Given the description of an element on the screen output the (x, y) to click on. 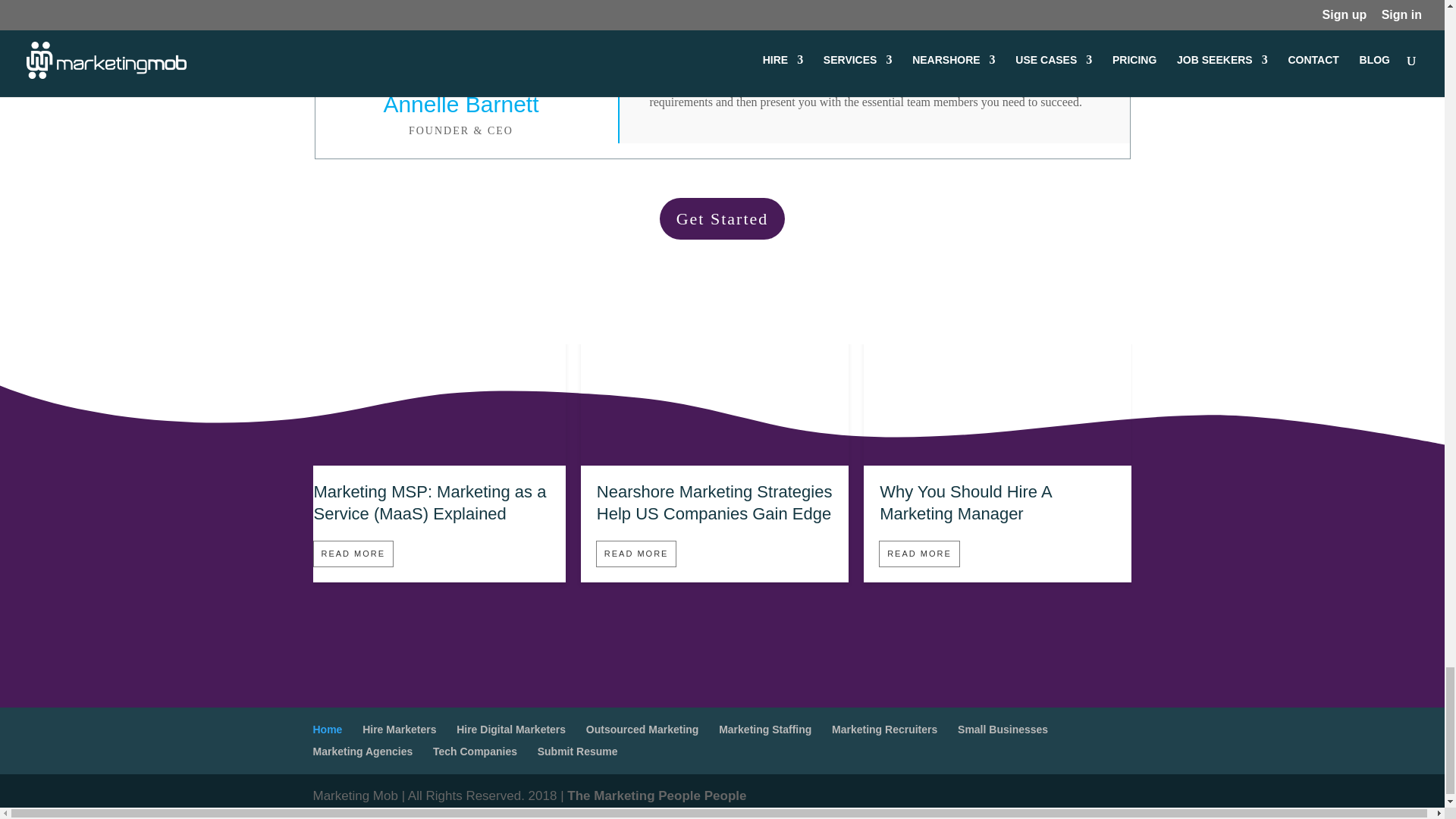
Get Started (722, 218)
READ MORE (919, 553)
Why You Should Hire A Marketing Manager (997, 459)
Nearshore Marketing Strategies Help US Companies Gain Edge (714, 502)
READ MORE (636, 553)
Why You Should Hire A Marketing Manager (965, 502)
Nearshore Marketing Strategies Help US Companies Gain Edge (714, 459)
READ MORE (353, 553)
